Given the description of an element on the screen output the (x, y) to click on. 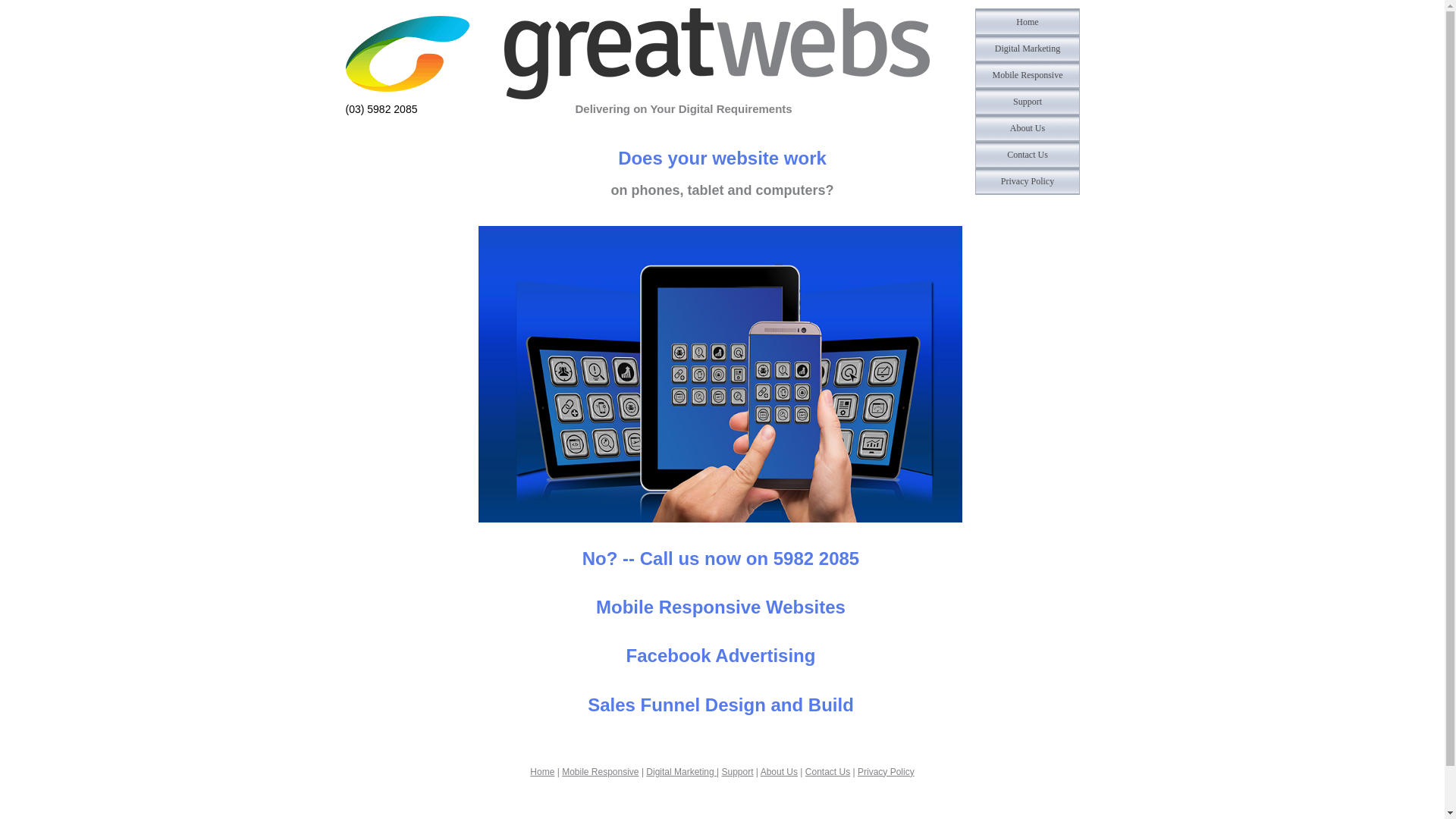
Contact Us Element type: text (827, 771)
Home Element type: text (1027, 21)
Privacy Policy Element type: text (1027, 181)
Mobile Responsive Element type: text (599, 771)
Contact Us Element type: text (1027, 154)
Great Webs, Mornington Peninsula Web Design Element type: hover (1027, 21)
Upkeep of Your Website Element type: hover (1027, 101)
Digital Marketing Element type: hover (1027, 48)
Mobile Responsive Websites Element type: hover (1027, 74)
Mobile Responsive Element type: text (1027, 74)
Support Element type: text (1027, 101)
Home Element type: text (542, 771)
About Us Element type: text (778, 771)
Digital Marketing Element type: text (681, 771)
Support Element type: text (737, 771)
Digital Marketing Element type: text (1027, 48)
About Great Webs Element type: hover (1027, 128)
About Us Element type: text (1027, 128)
Privacy Policy Element type: hover (1027, 181)
Privacy Policy Element type: text (885, 771)
Contact Great Webs for Mornington Peninsula Web Design Element type: hover (1027, 154)
